Given the description of an element on the screen output the (x, y) to click on. 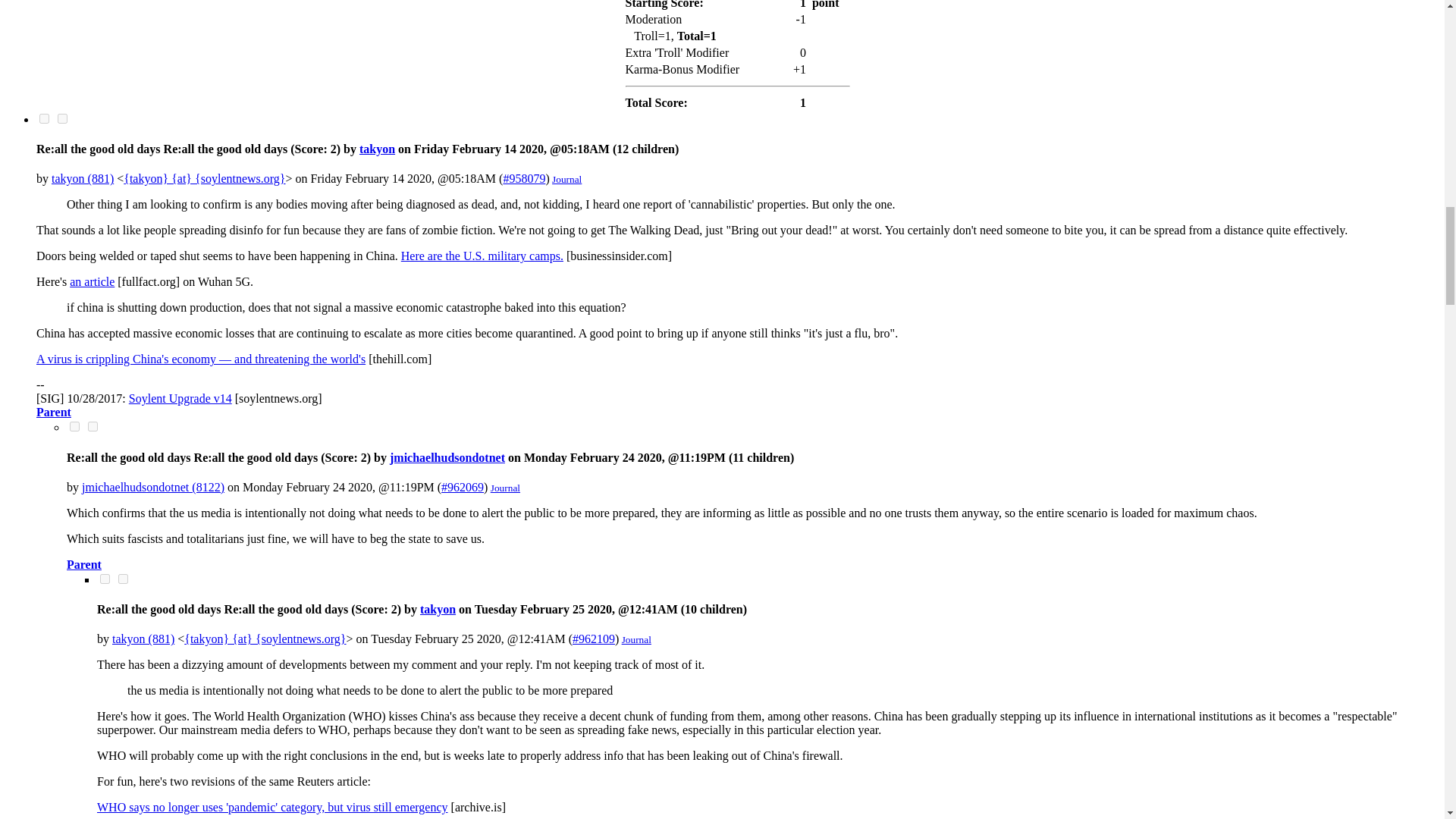
on (122, 578)
thehill.com (200, 358)
on (62, 118)
businessinsider.com (482, 255)
fullfact.org (92, 281)
on (92, 426)
on (105, 578)
on (74, 426)
on (44, 118)
